Given the description of an element on the screen output the (x, y) to click on. 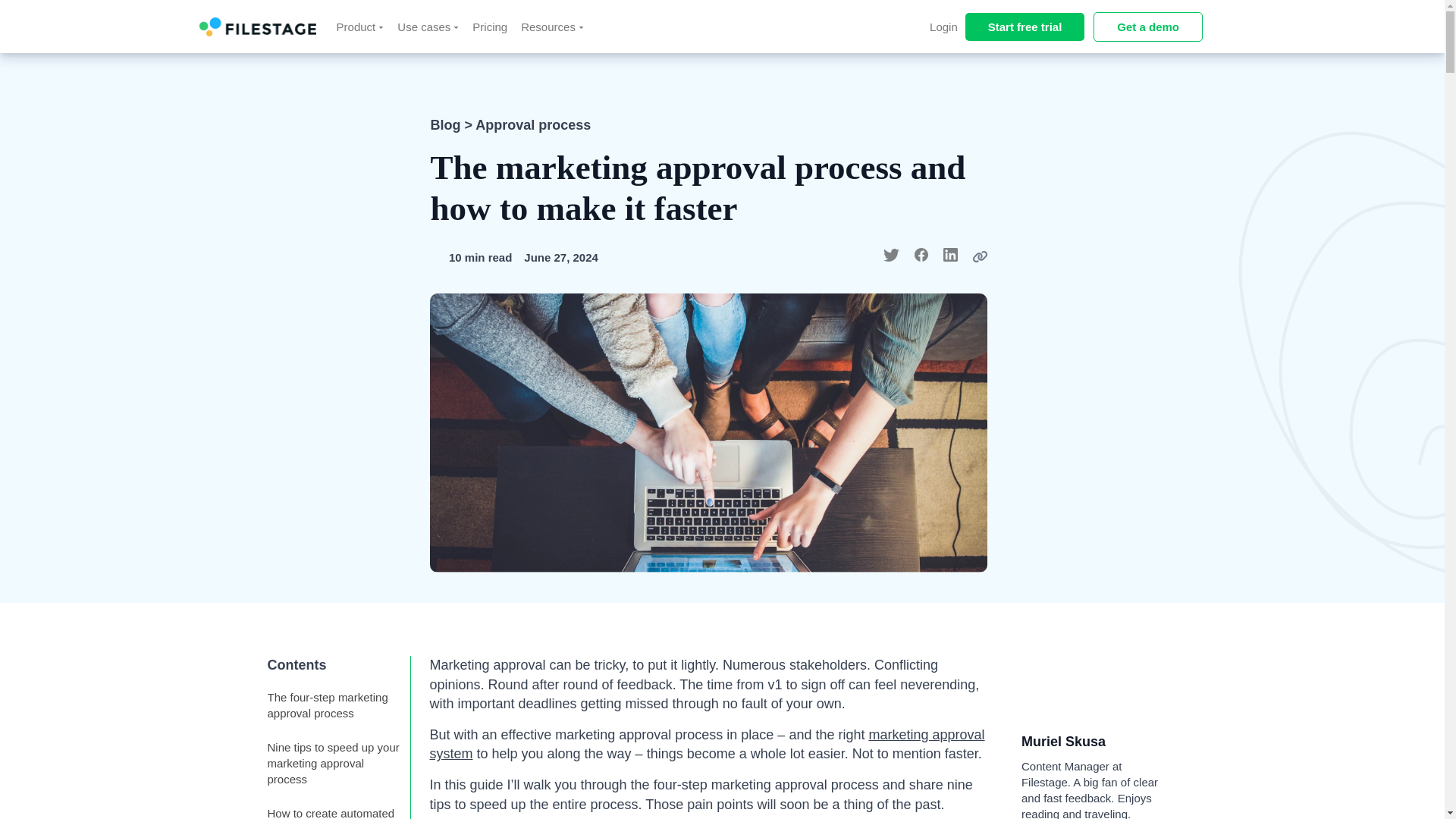
Use cases (427, 25)
Product (360, 25)
Use cases (427, 25)
Resources (552, 25)
Product (360, 25)
Pricing (489, 25)
